Given the description of an element on the screen output the (x, y) to click on. 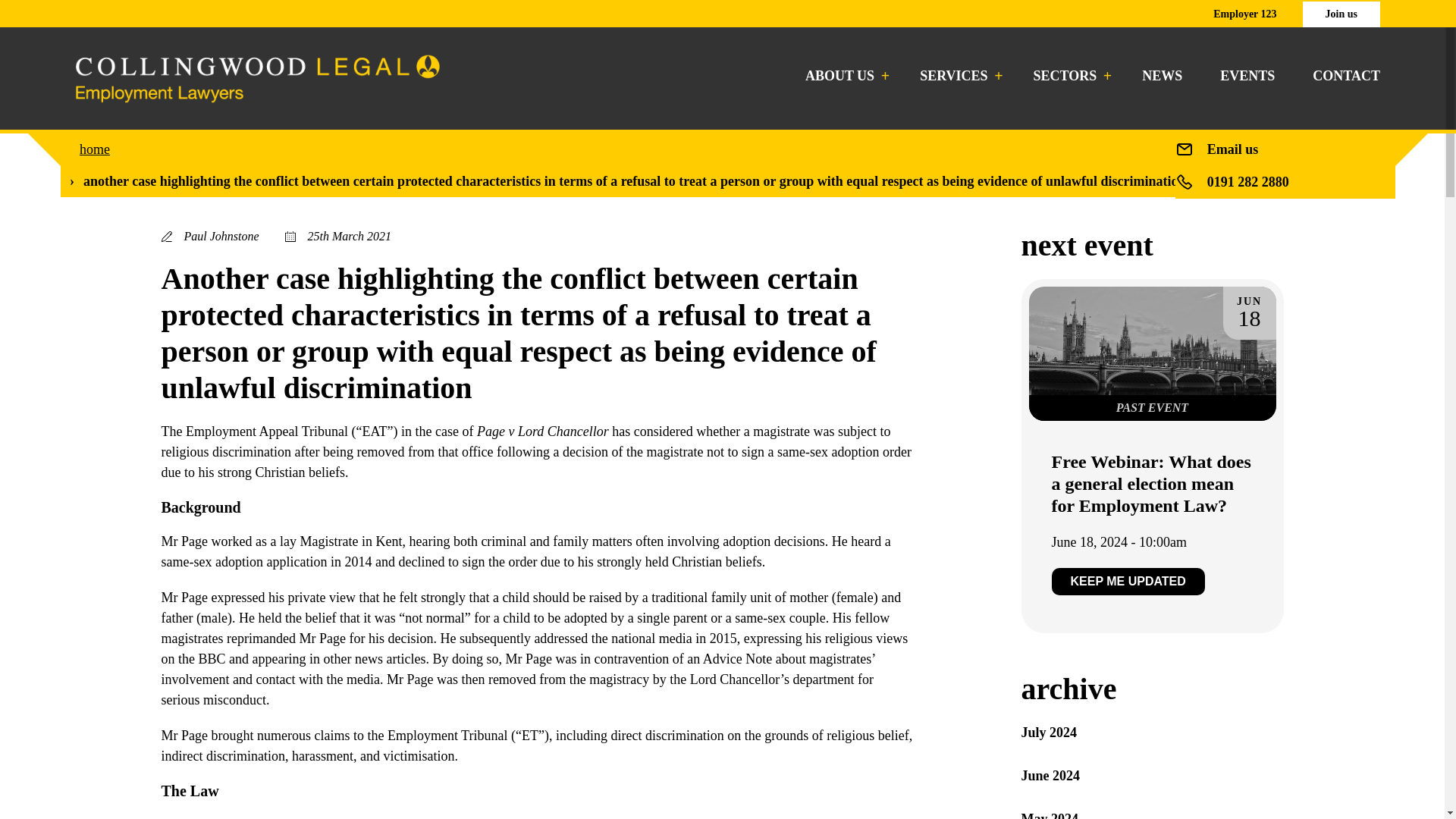
CONTACT (1346, 75)
ABOUT US (843, 75)
0191 282 2880 (1247, 181)
Join us (1340, 13)
SERVICES (957, 75)
Email us (1233, 149)
SECTORS (1069, 75)
Employer 123 (1244, 13)
NEWS (1161, 75)
EVENTS (1247, 75)
home (95, 149)
